Given the description of an element on the screen output the (x, y) to click on. 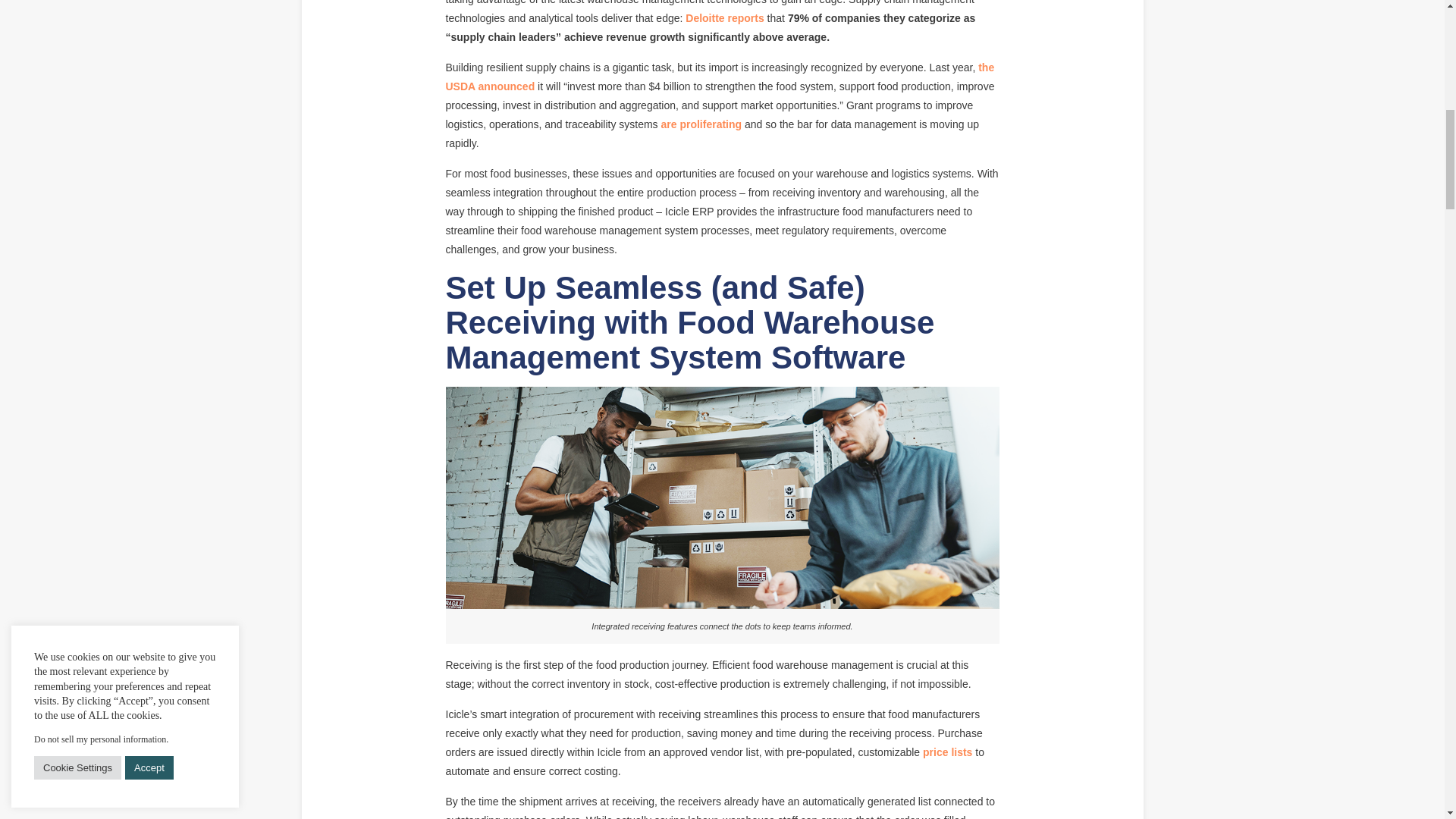
are proliferating (701, 123)
Deloitte reports (723, 18)
the USDA announced (719, 76)
price lists (947, 752)
